Given the description of an element on the screen output the (x, y) to click on. 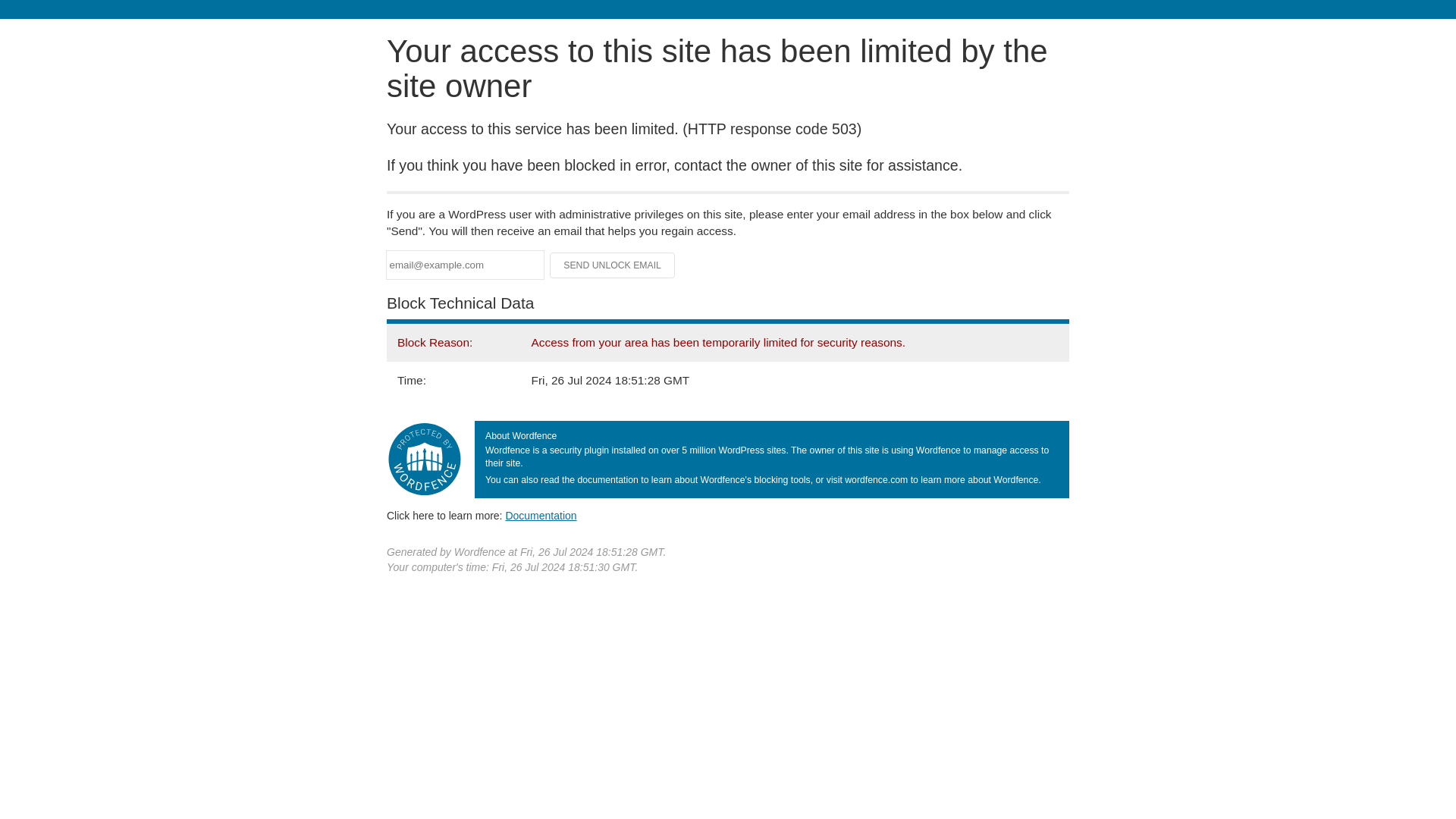
Send Unlock Email (612, 265)
Documentation (540, 515)
Send Unlock Email (612, 265)
